Given the description of an element on the screen output the (x, y) to click on. 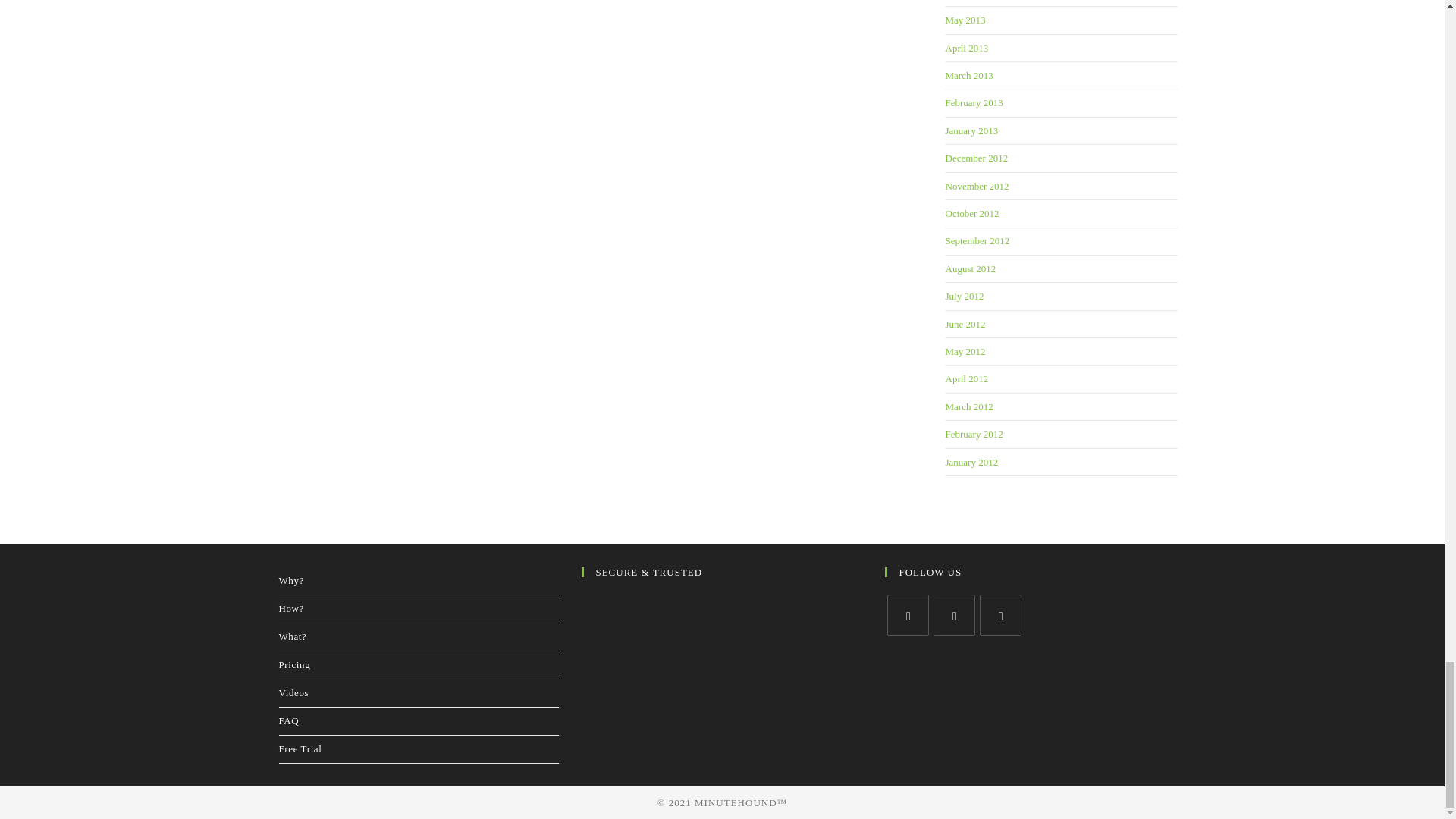
Twitter (907, 615)
Facebook (954, 615)
Youtube (1000, 615)
